Given the description of an element on the screen output the (x, y) to click on. 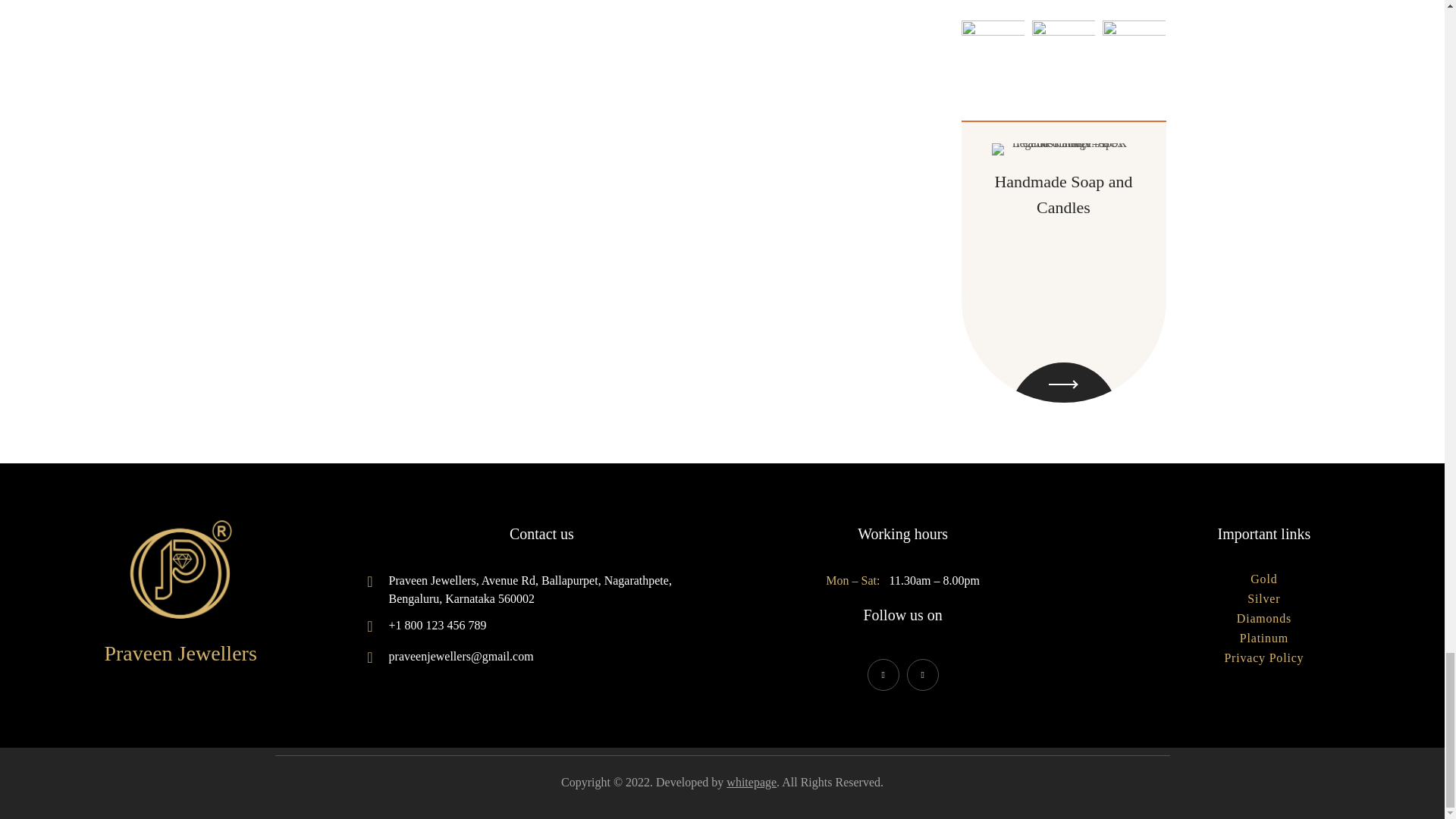
Facebook (883, 675)
Instagram (923, 675)
